Given the description of an element on the screen output the (x, y) to click on. 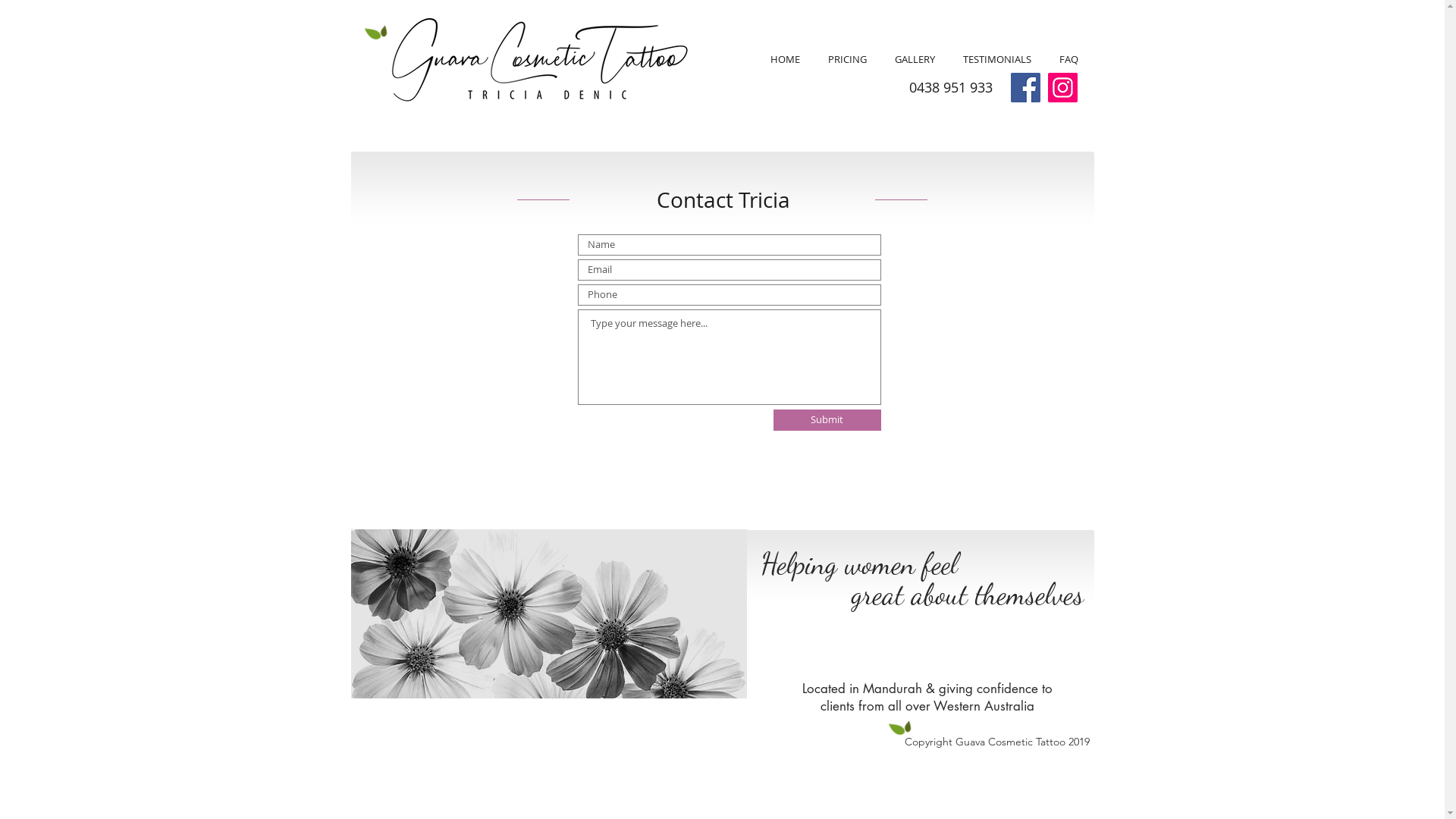
HOME Element type: text (785, 58)
Submit Element type: text (827, 419)
PRICING Element type: text (847, 58)
FAQ Element type: text (1068, 58)
TESTIMONIALS Element type: text (997, 58)
GALLERY Element type: text (915, 58)
